Given the description of an element on the screen output the (x, y) to click on. 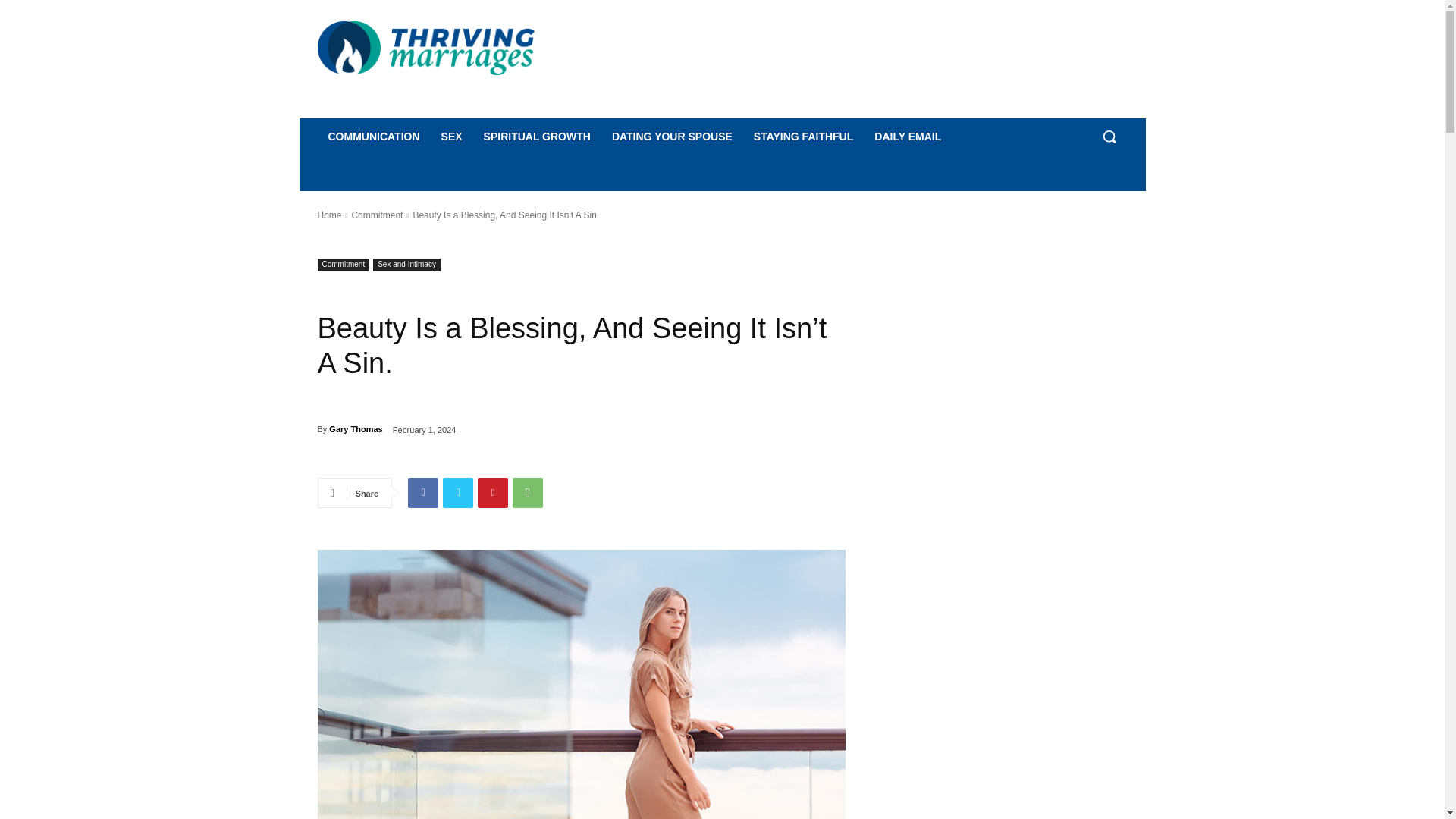
Commitment (343, 264)
STAYING FAITHFUL (802, 135)
DAILY EMAIL (907, 135)
DATING YOUR SPOUSE (671, 135)
View all posts in Commitment (376, 214)
Commitment (376, 214)
Gary Thomas (355, 428)
SPIRITUAL GROWTH (537, 135)
Facebook (422, 492)
COMMUNICATION (373, 135)
Twitter (457, 492)
Pinterest (492, 492)
Sex and Intimacy (406, 264)
WhatsApp (527, 492)
Home (328, 214)
